Given the description of an element on the screen output the (x, y) to click on. 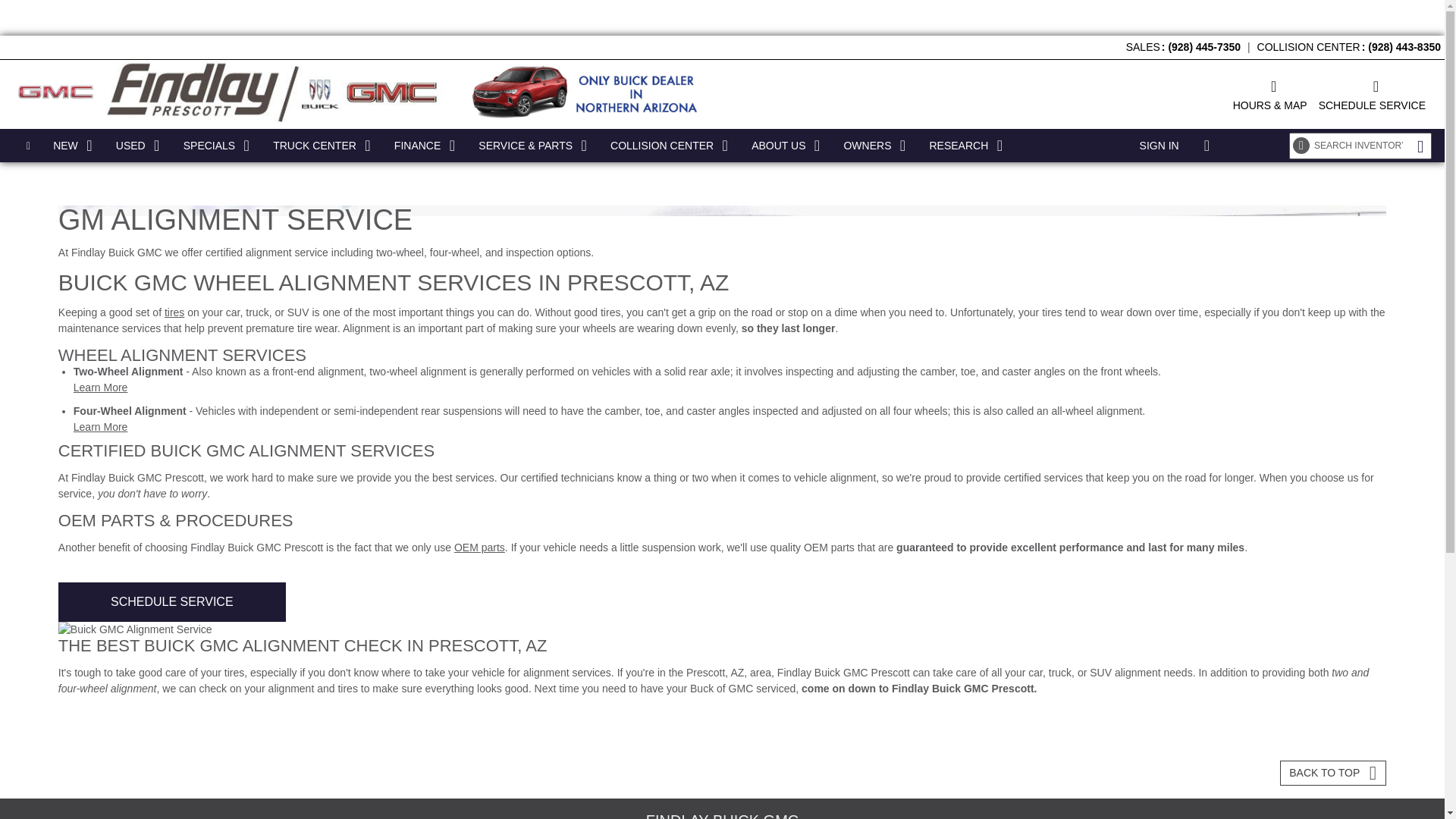
Skip to Main Content (49, 7)
Findlay Buick GMC (273, 93)
Back to Top (1332, 772)
Buick (55, 91)
SCHEDULE SERVICE (1372, 93)
Buick GMC Alignment Service (722, 629)
